Given the description of an element on the screen output the (x, y) to click on. 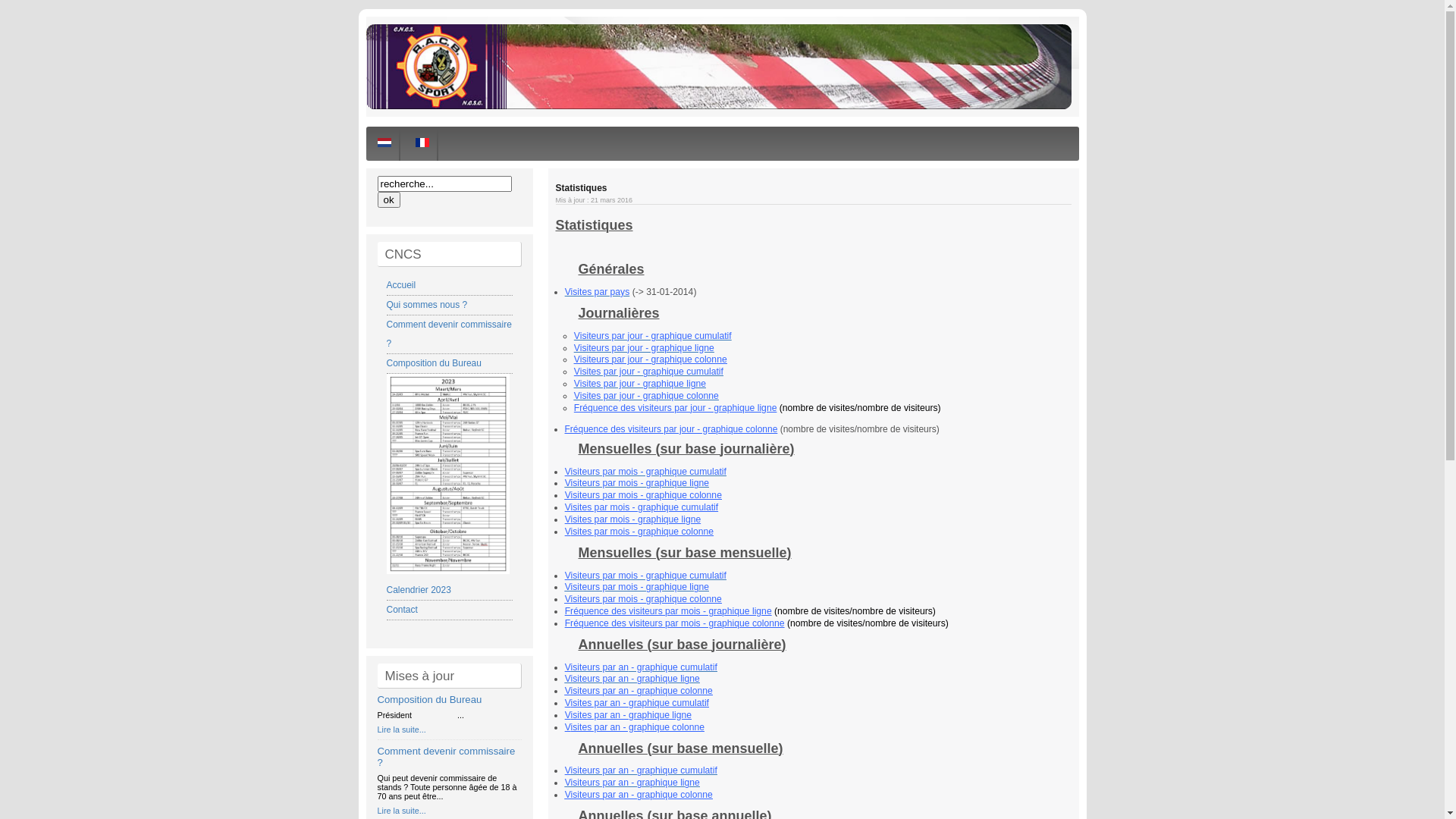
par jour - graphique colonne Element type: text (669, 359)
isites par jour - graphique cumulatif Element type: text (651, 371)
Nederlands Element type: hover (384, 142)
isiteurs par an - graphique cumulatif Element type: text (644, 667)
Visites par jour - graphique ligne Element type: text (640, 383)
Visiteurs par an - graphique ligne Element type: text (631, 782)
Accueil Element type: text (401, 284)
Lire la suite... Element type: text (401, 810)
Visiteurs par an - graphique ligne Element type: text (631, 678)
Visiteurs par mois - graphique colonne Element type: text (642, 598)
Visites par mois - graphique ligne Element type: text (632, 519)
Visiteurs par mois - graphique ligne Element type: text (636, 586)
par an - graphique colonne Element type: text (657, 794)
Calendrier 2023 Element type: text (448, 580)
Visiteurs par jour - graphique ligne Element type: text (644, 347)
Visites par an - graphique ligne Element type: text (627, 714)
Visites par an - graphique colonne Element type: text (634, 726)
Visites par mois - graphique colonne Element type: text (638, 531)
isiteurs par an - graphique cumulatif Element type: text (644, 770)
ok Element type: text (388, 199)
isiteurs par mois - graphique cumulatif Element type: text (648, 575)
Lire la suite... Element type: text (401, 729)
Qui sommes nous ? Element type: text (426, 304)
isiteurs par mois - graphique cumulatif Element type: text (648, 471)
Visites par mois - graphique cumulatif Element type: text (641, 507)
Visites par an - graphique cumulatif Element type: text (636, 702)
Visiteurs par mois - graphique ligne Element type: text (636, 482)
Contact Element type: text (401, 609)
Comment devenir commissaire ? Element type: text (446, 756)
Visiteurs par an - graphique colonne Element type: text (638, 690)
Comment devenir commissaire ? Element type: text (448, 333)
Visiteurs par jour - graphique cumulatif Element type: text (652, 335)
Composition du Bureau Element type: text (429, 699)
par mois - graphique colonne Element type: text (661, 494)
Visites par pays Element type: text (597, 291)
Visites par jour - graphique colonne Element type: text (646, 395)
Composition du Bureau Element type: text (433, 362)
